Given the description of an element on the screen output the (x, y) to click on. 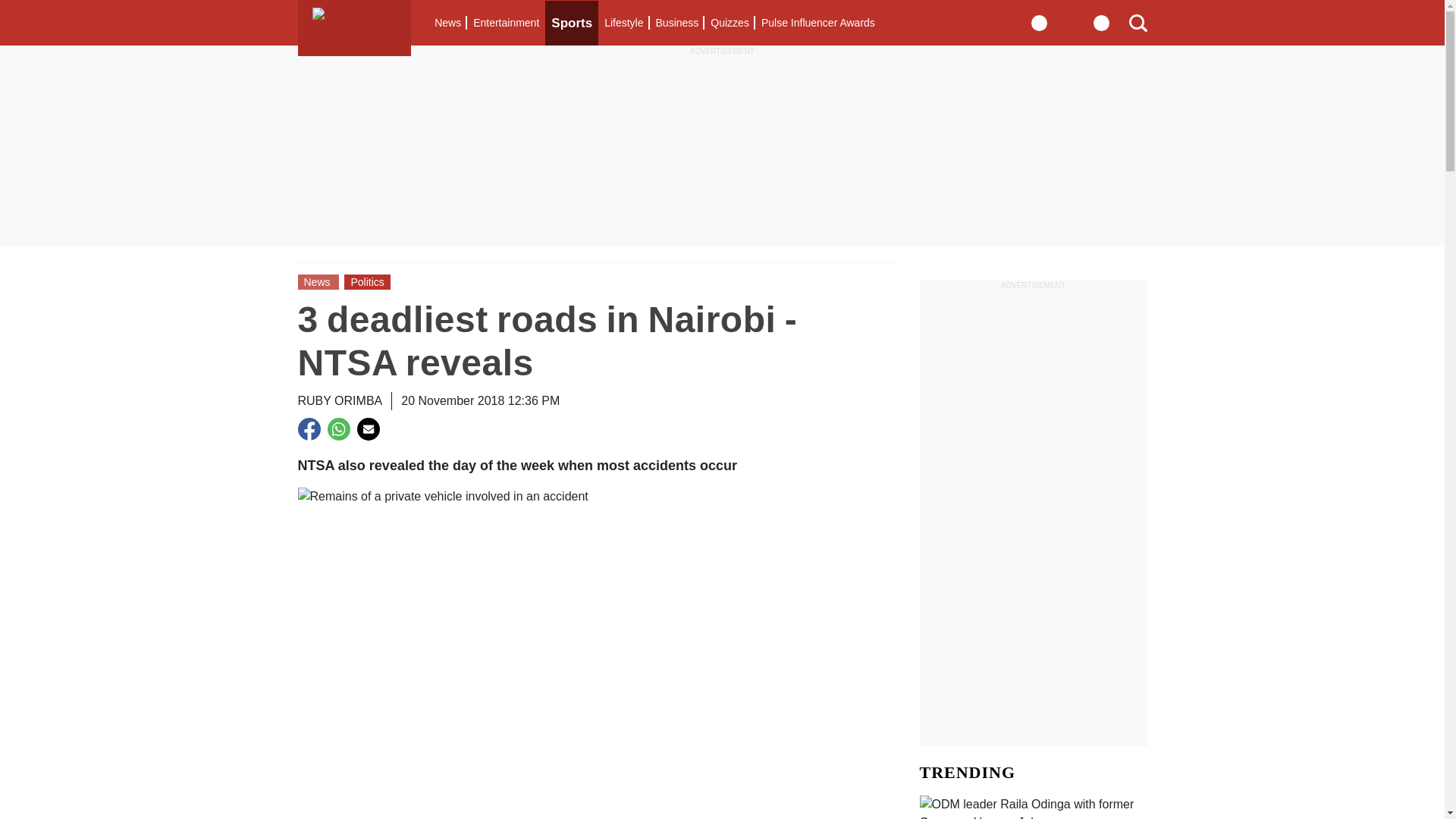
Business (676, 22)
Lifestyle (623, 22)
Sports (571, 22)
Pulse Influencer Awards (817, 22)
Quizzes (729, 22)
Entertainment (505, 22)
